Given the description of an element on the screen output the (x, y) to click on. 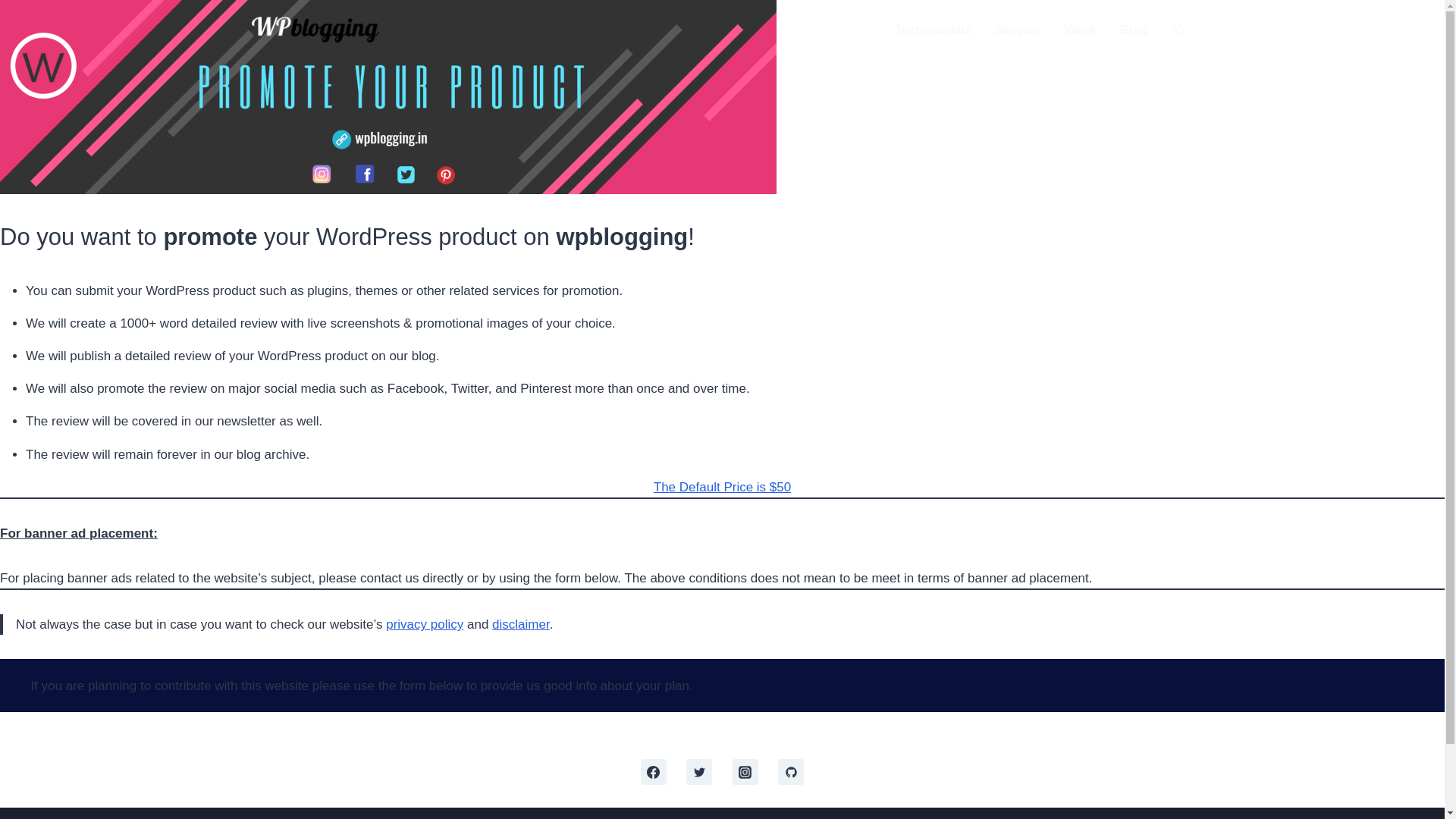
Work (1080, 30)
Blog (1133, 30)
privacy policy (424, 624)
Testimonials (933, 30)
Service (1018, 30)
disclaimer (521, 624)
